Given the description of an element on the screen output the (x, y) to click on. 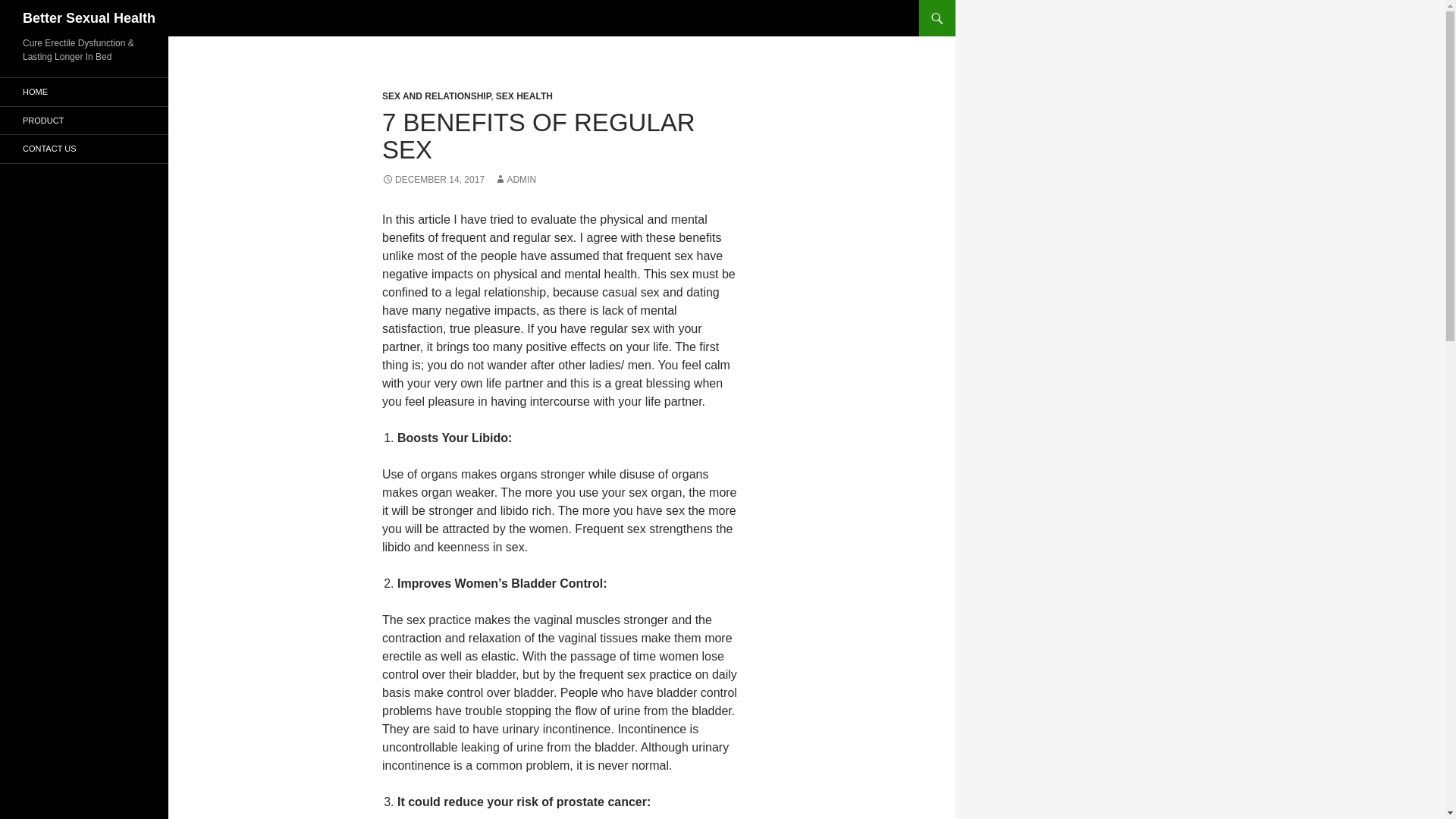
HOME (84, 91)
CONTACT US (84, 148)
SEX HEALTH (524, 95)
Better Sexual Health (89, 18)
DECEMBER 14, 2017 (432, 179)
PRODUCT (84, 120)
ADMIN (515, 179)
SEX AND RELATIONSHIP (435, 95)
